Given the description of an element on the screen output the (x, y) to click on. 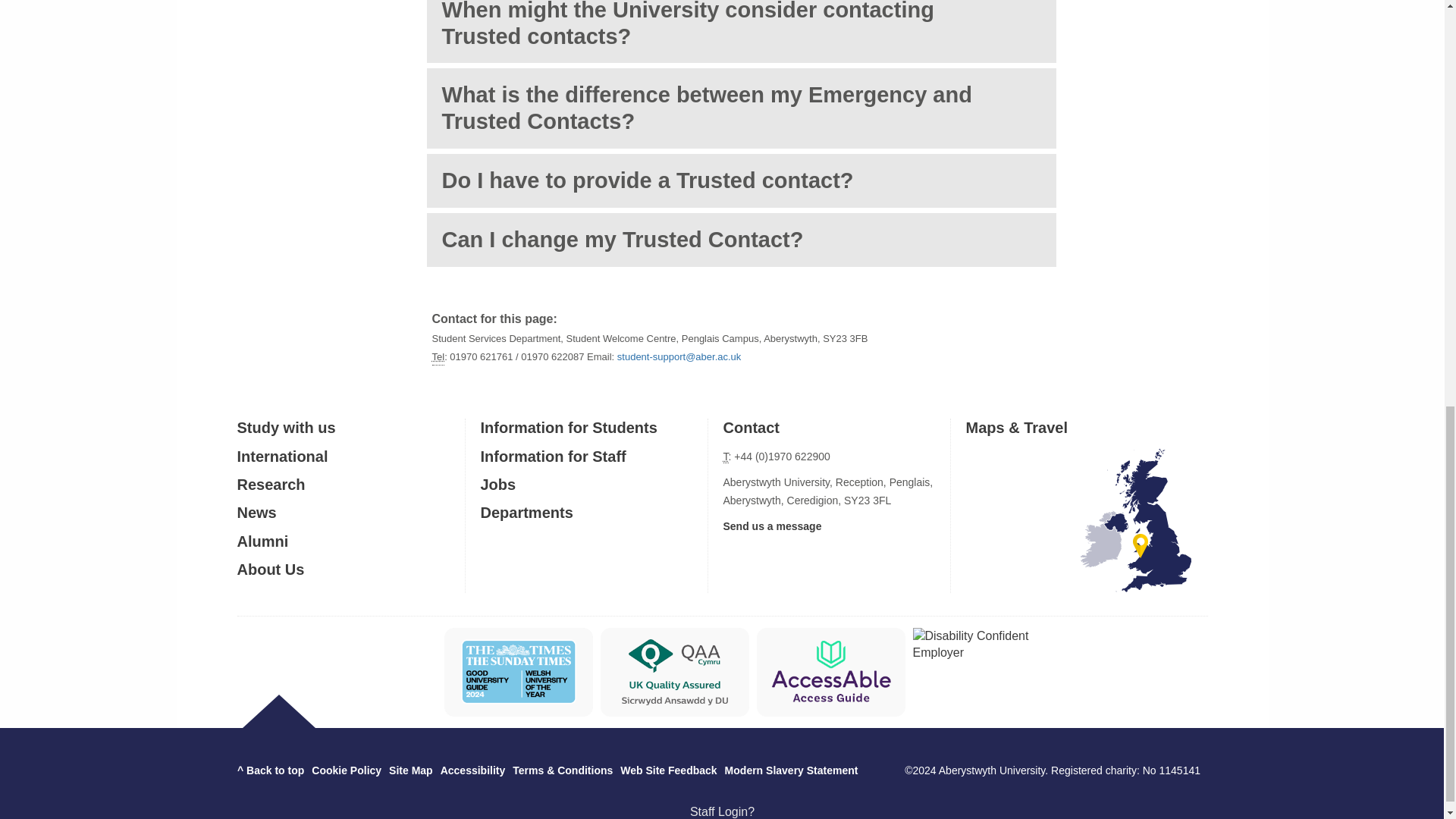
Send us feedback on this web site. (668, 770)
Cookie Policy (346, 770)
Modern Slavery Statement (792, 770)
Accessibility information (473, 770)
A text map of this web site. (410, 770)
